Given the description of an element on the screen output the (x, y) to click on. 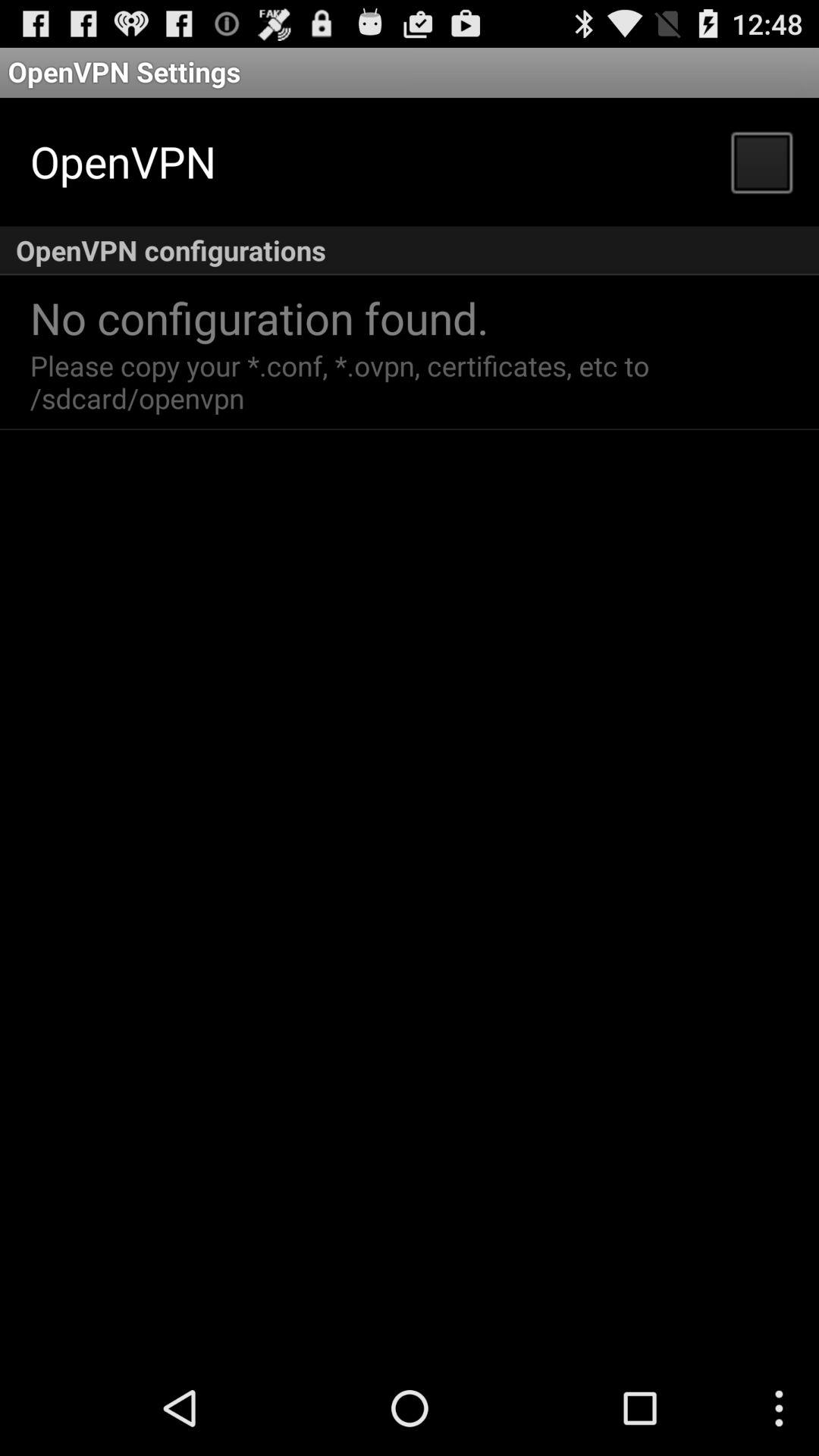
turn off item below the openvpn settings (761, 161)
